Given the description of an element on the screen output the (x, y) to click on. 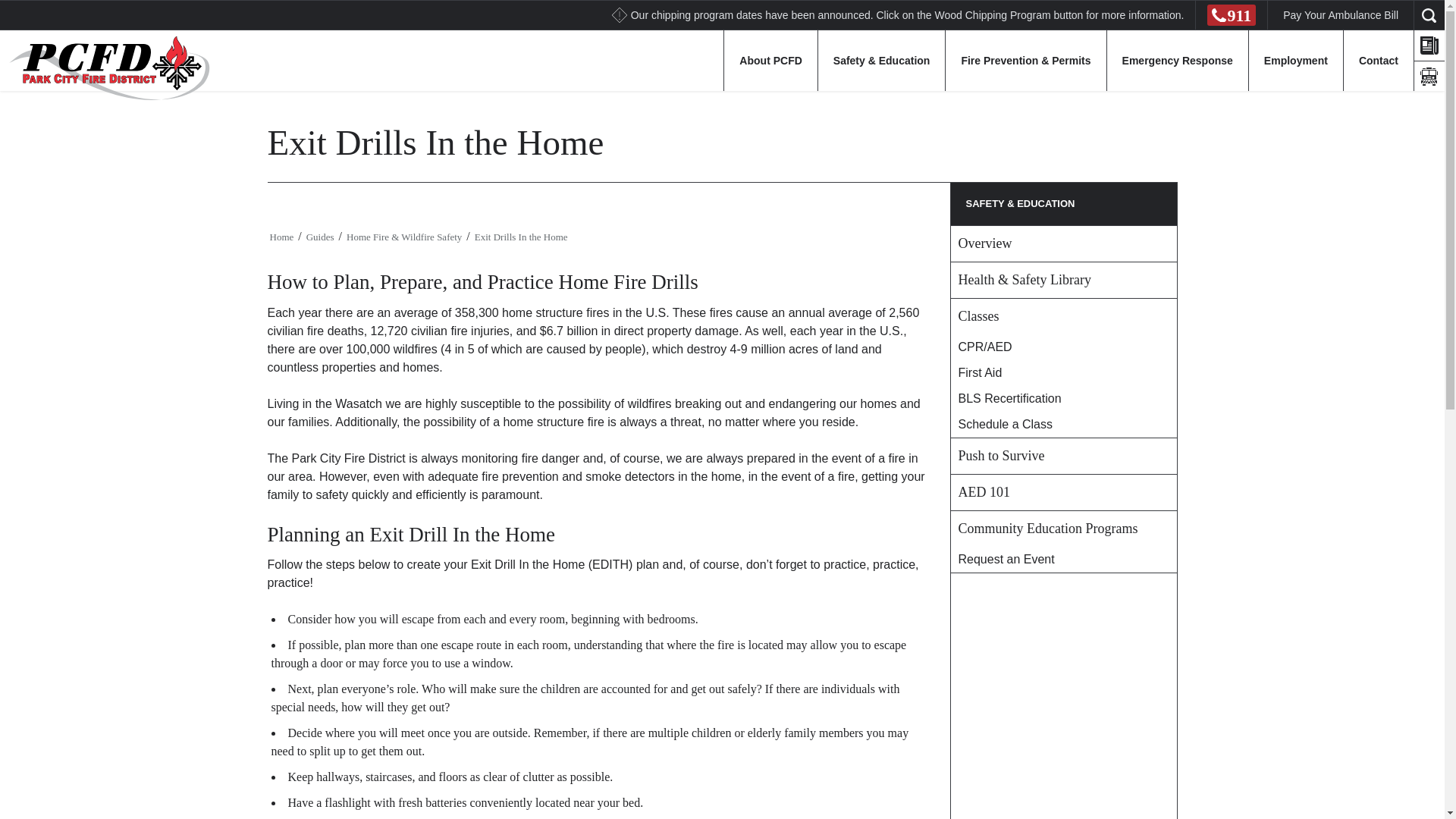
Park City Fire District (104, 66)
About PCFD (769, 60)
Pay Your Ambulance Bill (1339, 14)
911 (1231, 15)
Search (21, 7)
